Given the description of an element on the screen output the (x, y) to click on. 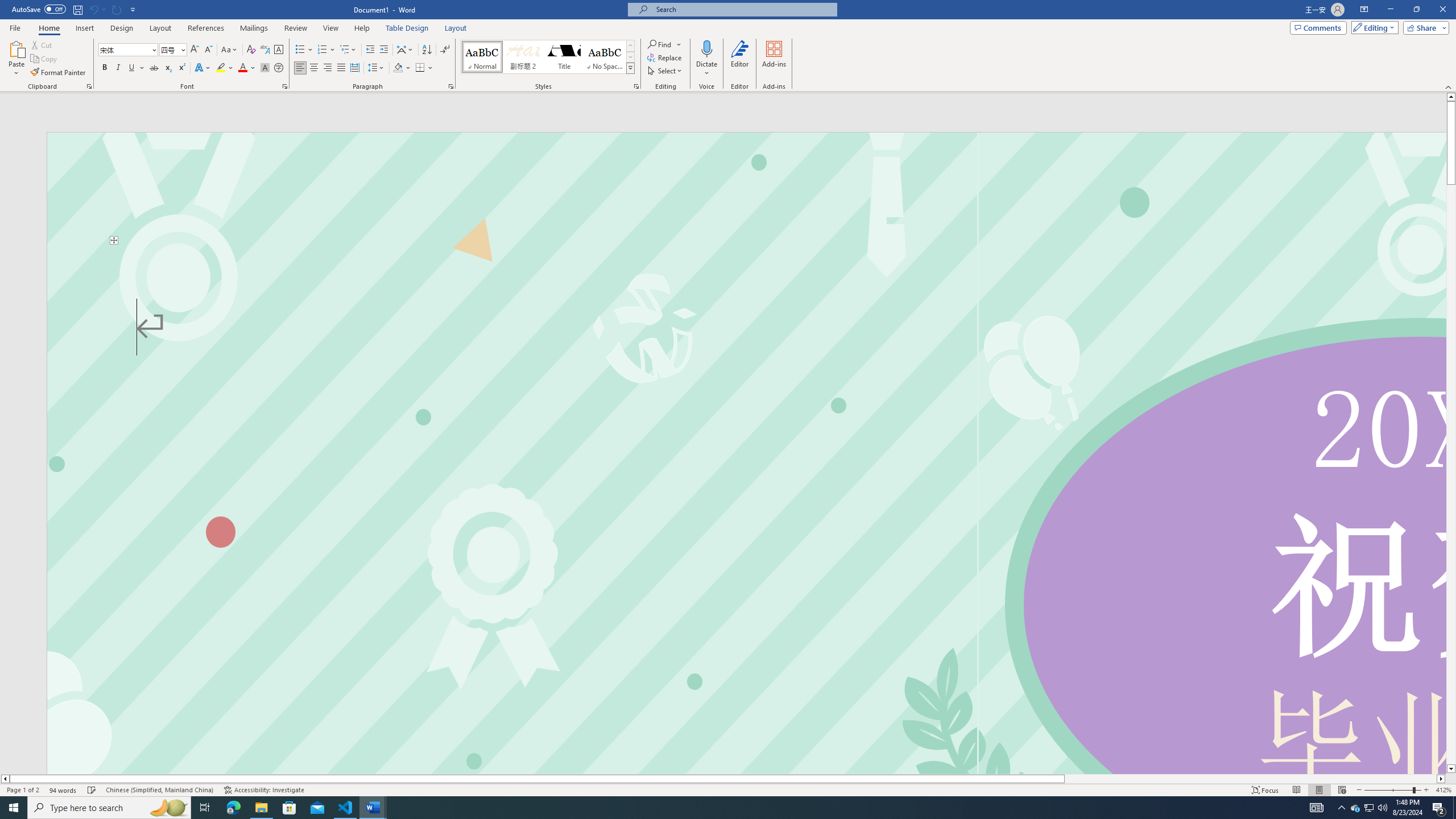
First Page Header -Section 1- (745, 187)
Spelling and Grammar Check Checking (91, 790)
